Given the description of an element on the screen output the (x, y) to click on. 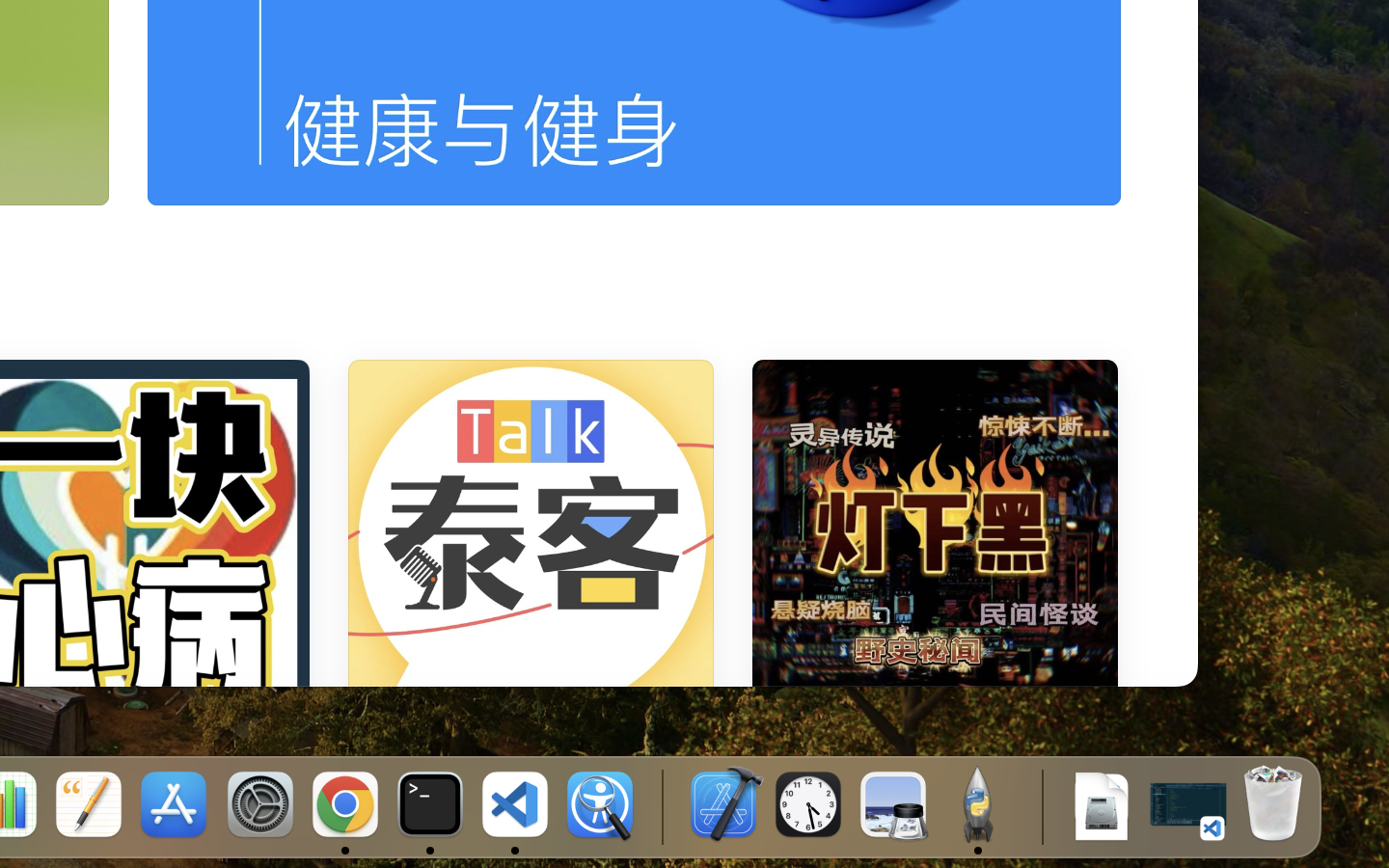
0.4285714328289032 Element type: AXDockItem (660, 805)
